Given the description of an element on the screen output the (x, y) to click on. 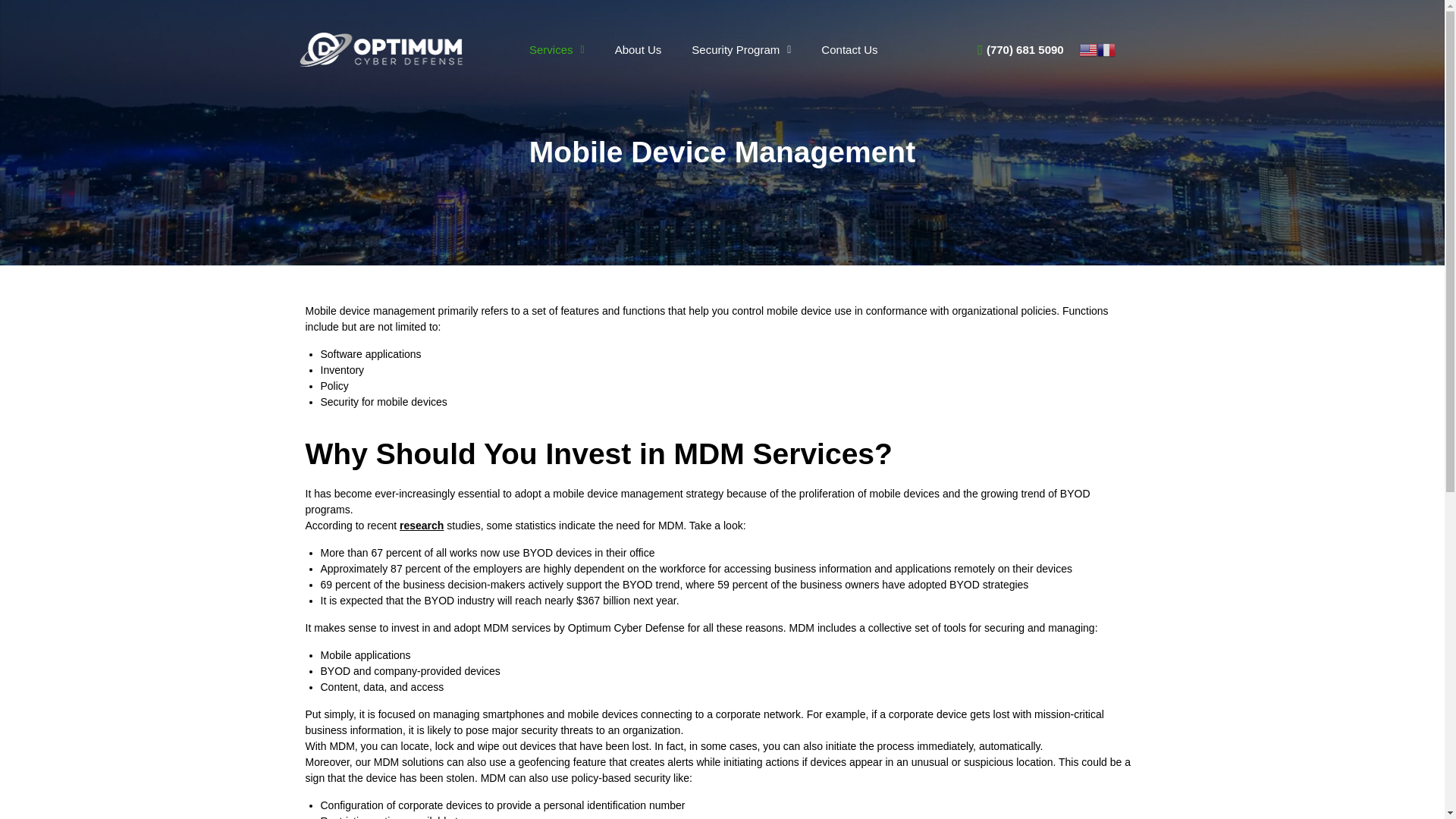
About Us (638, 49)
Security Program (741, 49)
Contact Us (849, 49)
French (1106, 49)
Services (556, 49)
English (1087, 49)
